Given the description of an element on the screen output the (x, y) to click on. 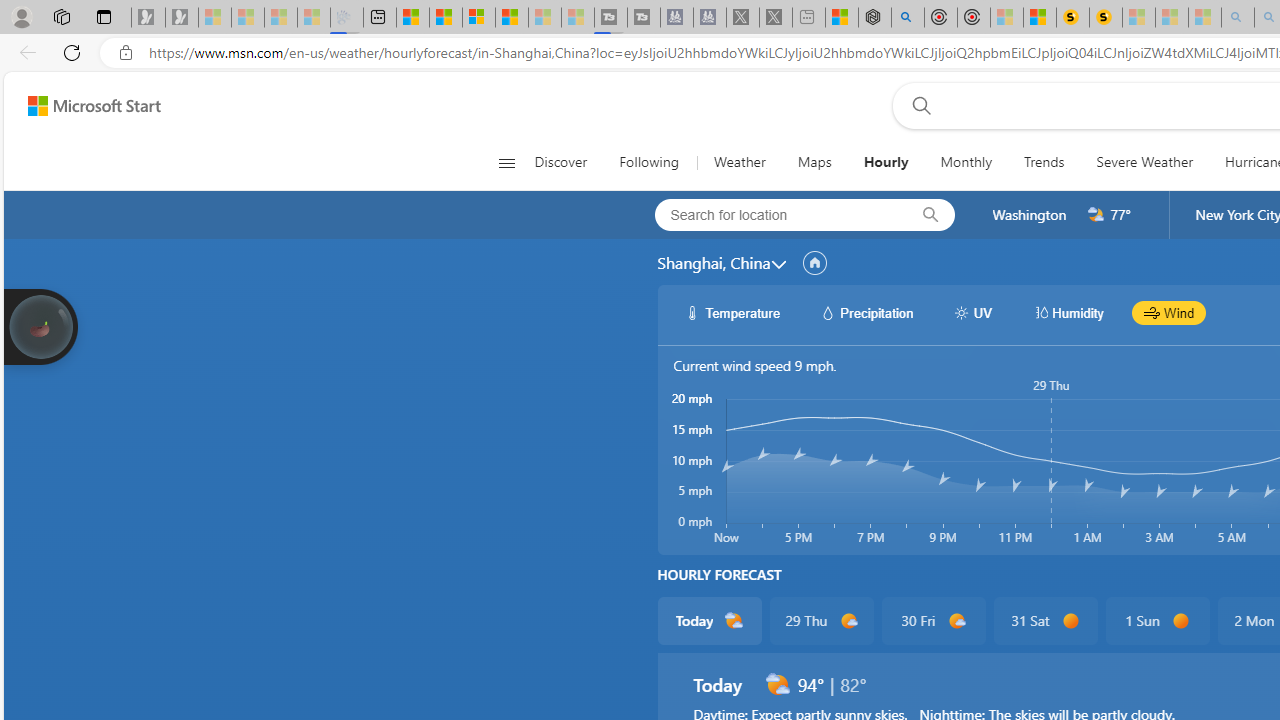
1 Sun d0000 (1156, 620)
common/carouselChevron (778, 264)
n2000 (1096, 215)
31 Sat d0000 (1045, 620)
Monthly (966, 162)
locationName/setHomeLocation (813, 263)
hourlyChart/humidityWhite Humidity (1068, 312)
